Given the description of an element on the screen output the (x, y) to click on. 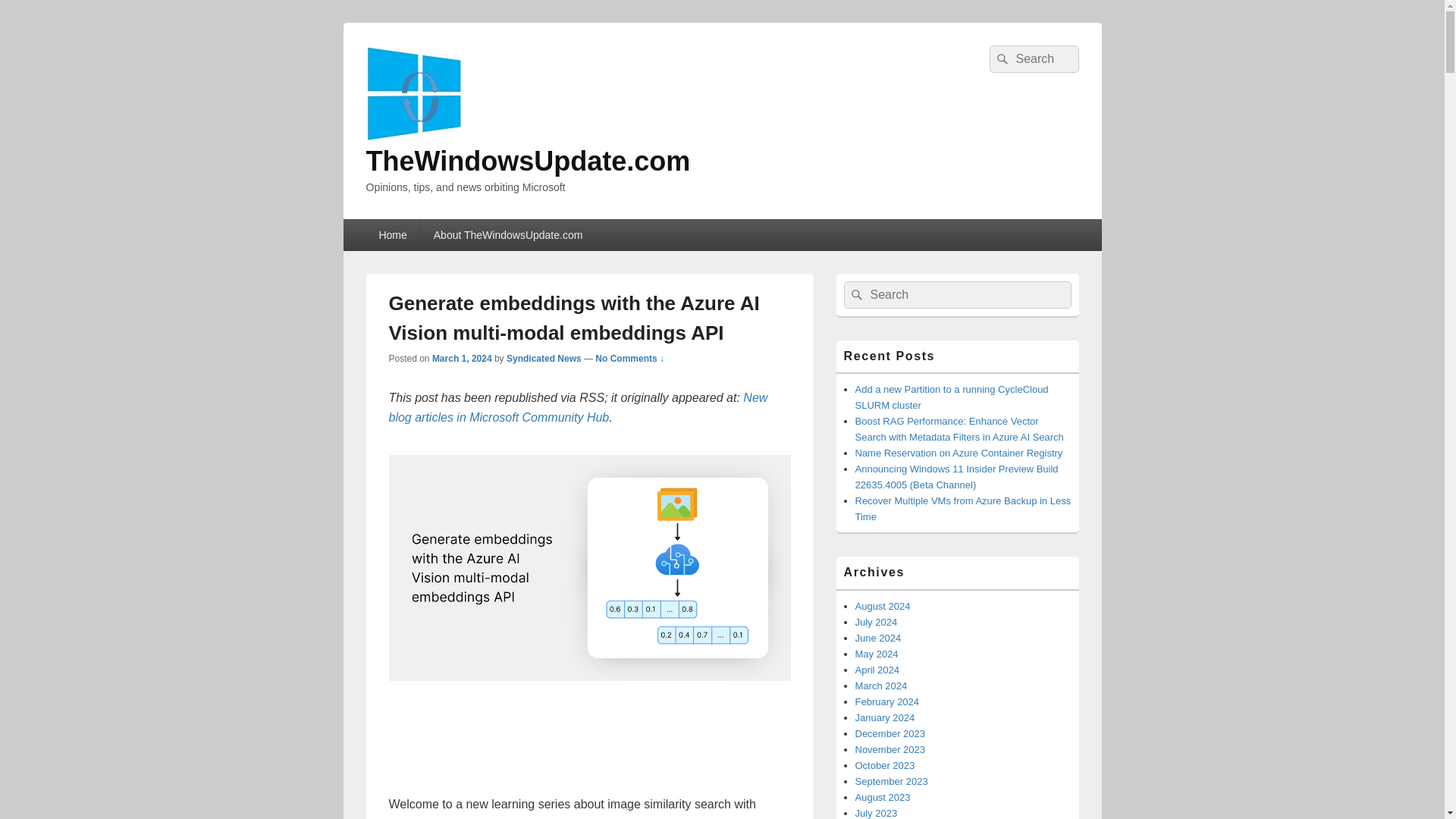
New blog articles in Microsoft Community Hub (577, 407)
3:00 AM (462, 357)
TheWindowsUpdate.com (527, 160)
part1.png (589, 567)
June 2024 (878, 637)
Add a new Partition to a running CycleCloud SLURM cluster (952, 397)
Home (392, 234)
Syndicated News (543, 357)
March 1, 2024 (462, 357)
About TheWindowsUpdate.com (507, 234)
July 2024 (877, 622)
August 2024 (883, 605)
Name Reservation on Azure Container Registry (959, 452)
Recover Multiple VMs from Azure Backup in Less Time (963, 508)
